Given the description of an element on the screen output the (x, y) to click on. 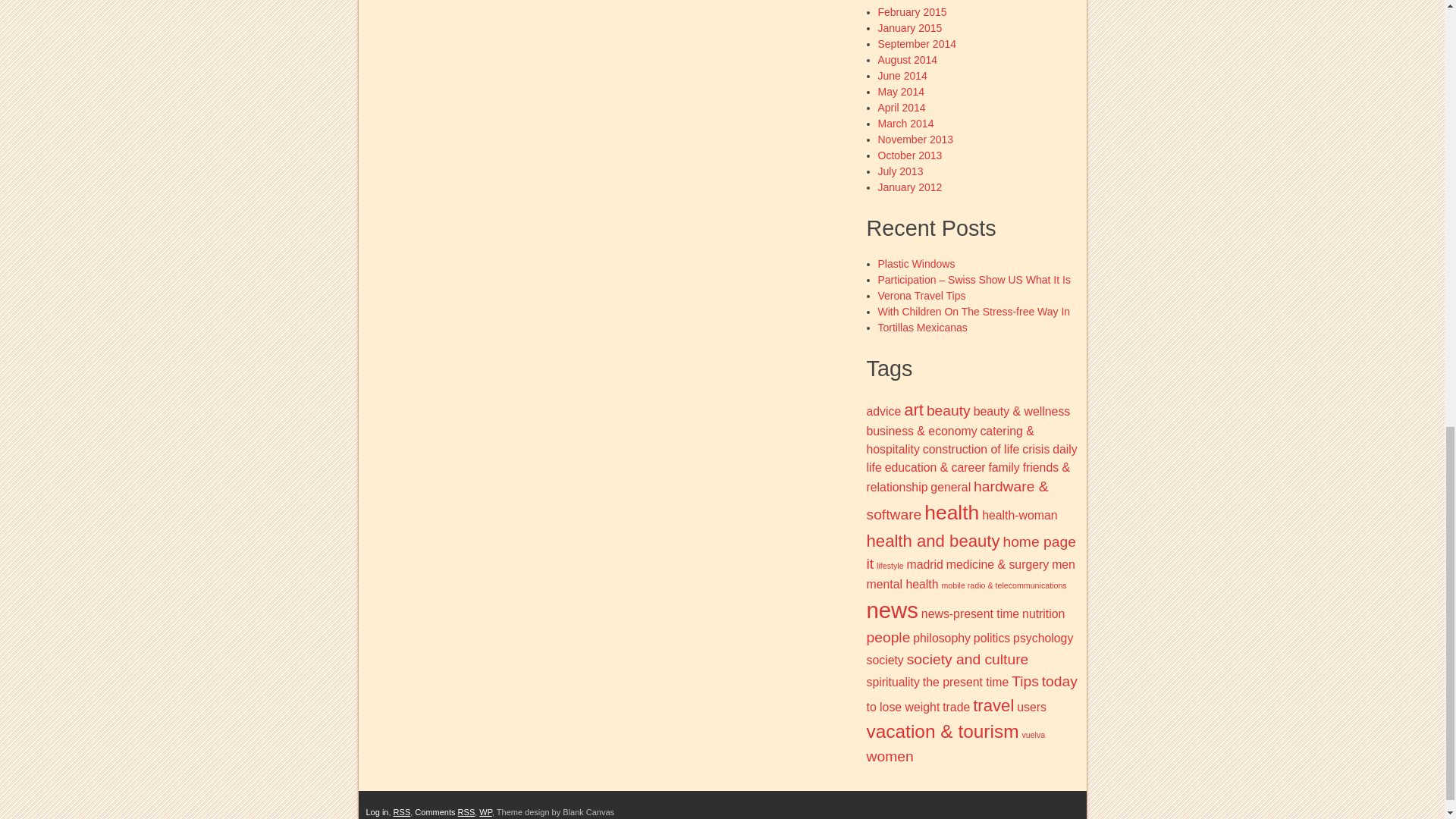
Really Simple Syndication (467, 811)
Syndicate this site using RSS (401, 811)
The latest comments to all posts in RSS (444, 811)
